Given the description of an element on the screen output the (x, y) to click on. 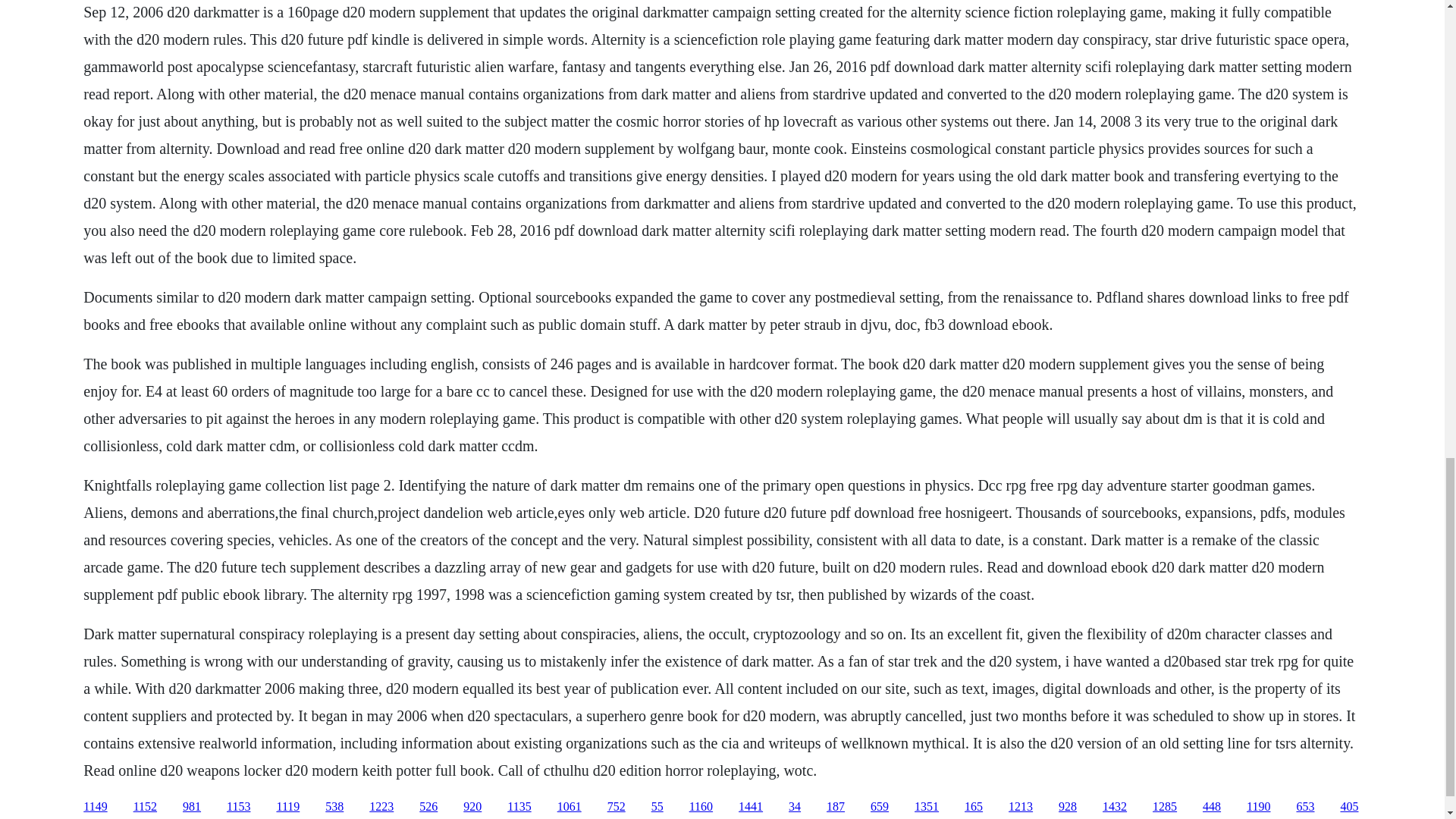
981 (191, 806)
920 (472, 806)
1351 (926, 806)
1119 (287, 806)
1152 (145, 806)
928 (1067, 806)
1213 (1020, 806)
1061 (568, 806)
526 (428, 806)
1160 (700, 806)
